Given the description of an element on the screen output the (x, y) to click on. 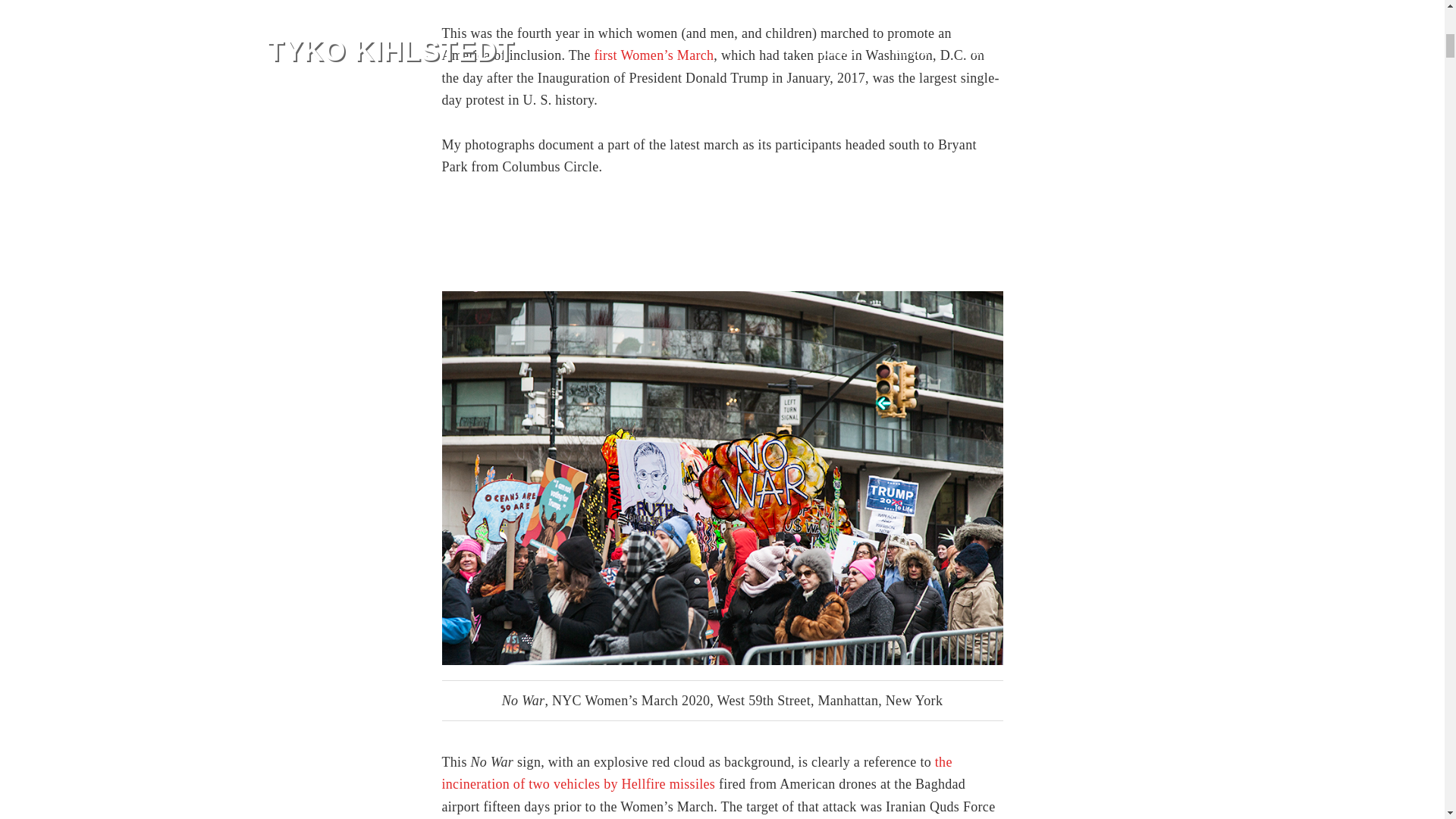
the incineration of two vehicles by Hellfire missiles (696, 772)
